Given the description of an element on the screen output the (x, y) to click on. 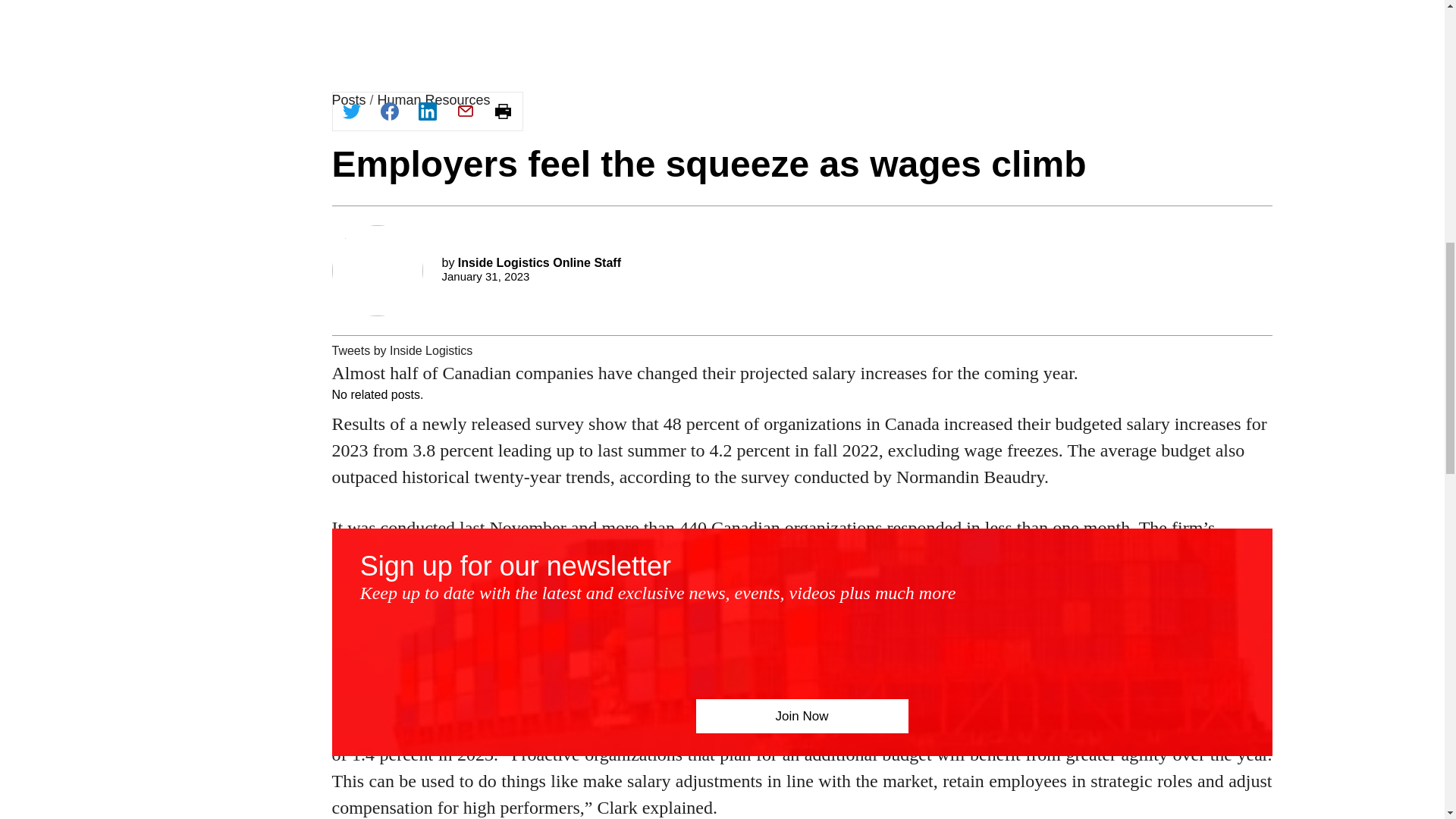
Tweets by Inside Logistics (402, 350)
Human Resources (433, 99)
3rd party ad content (801, 186)
Print page. (502, 111)
Join Now (801, 716)
Posts (348, 99)
